Given the description of an element on the screen output the (x, y) to click on. 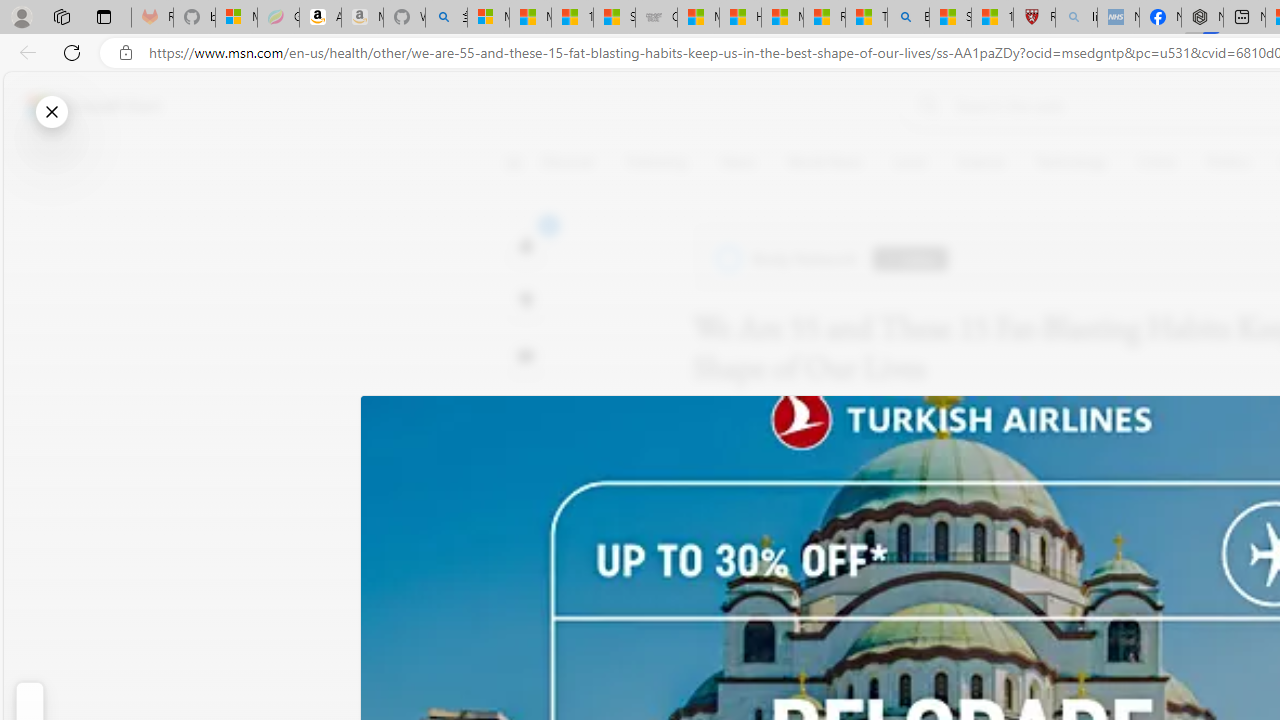
6 Like (525, 244)
